Given the description of an element on the screen output the (x, y) to click on. 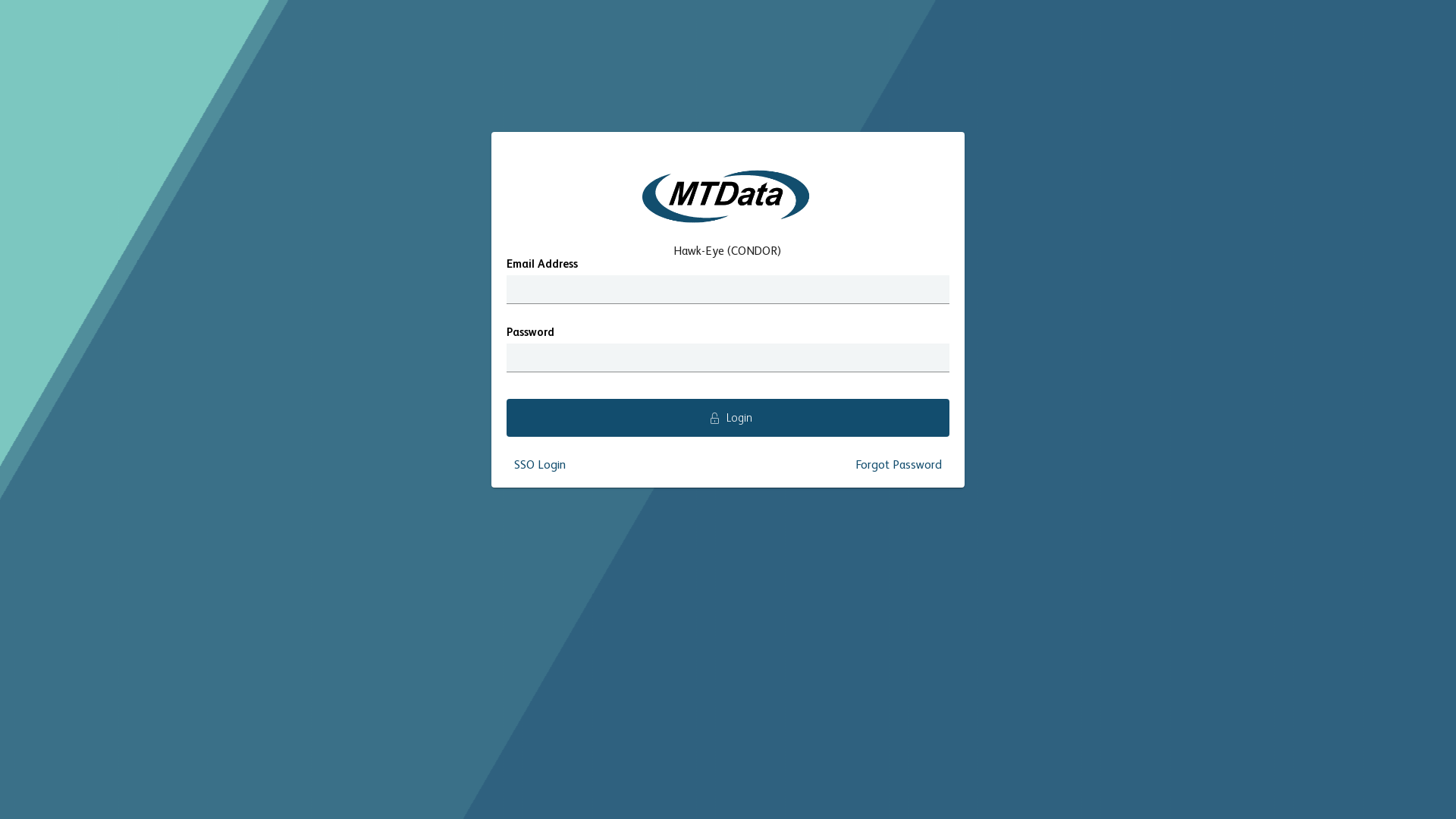
Forgot Password Element type: text (898, 465)
Login Element type: text (727, 417)
SSO Login Element type: text (539, 465)
